Given the description of an element on the screen output the (x, y) to click on. 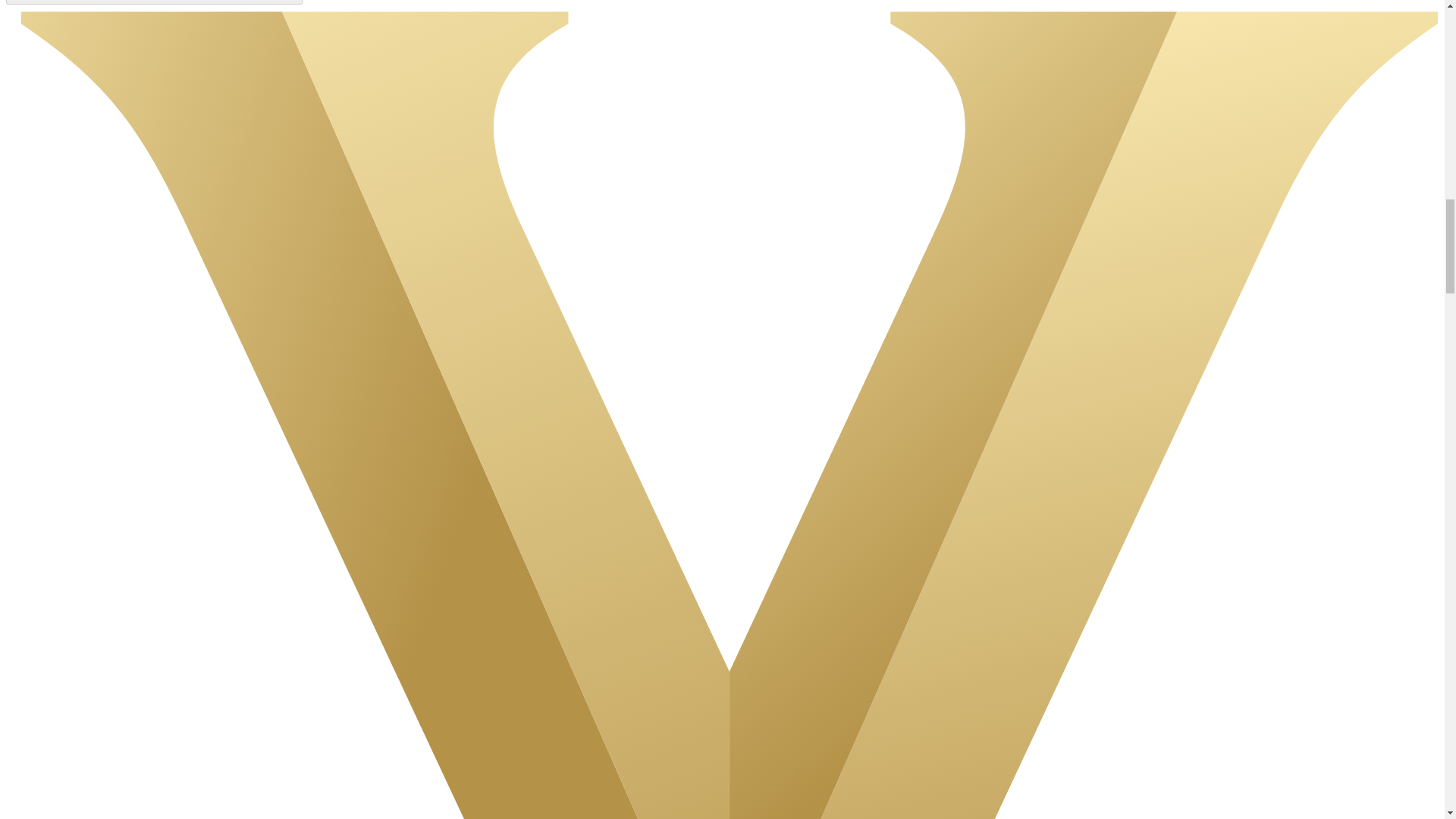
Close Menu (153, 2)
